Given the description of an element on the screen output the (x, y) to click on. 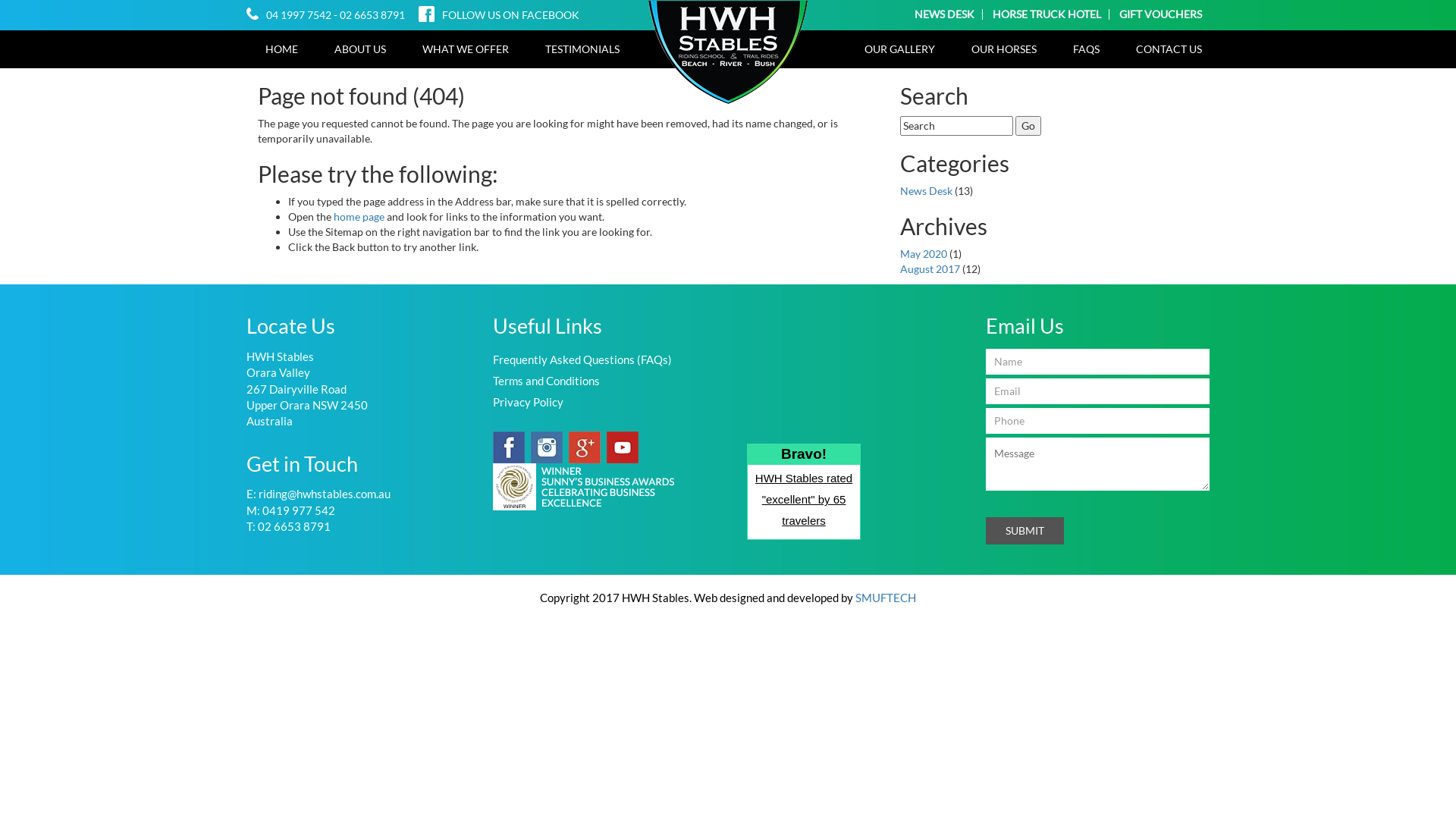
Frequently Asked Questions (FAQs) Element type: text (581, 359)
OUR GALLERY Element type: text (899, 49)
NEWS DESK Element type: text (944, 14)
02 6653 8791 Element type: text (371, 14)
WHAT WE OFFER Element type: text (465, 49)
TESTIMONIALS Element type: text (582, 49)
home page Element type: text (359, 216)
HWH Stables rated "excellent" by 65 travelers Element type: text (803, 499)
OUR HORSES Element type: text (1003, 49)
HORSE TRUCK HOTEL Element type: text (1047, 14)
May 2020 Element type: text (923, 253)
GIFT VOUCHERS Element type: text (1156, 14)
News Desk Element type: text (926, 190)
ABOUT US Element type: text (360, 49)
SMUFTECH Element type: text (885, 597)
FAQS Element type: text (1085, 49)
August 2017 Element type: text (930, 268)
Terms and Conditions Element type: text (545, 380)
FOLLOW US ON FACEBOOK Element type: text (510, 14)
Privacy Policy Element type: text (527, 401)
04 1997 7542 Element type: text (299, 14)
HOME Element type: text (281, 49)
Go Element type: text (1028, 125)
SUBMIT Element type: text (1024, 530)
CONTACT US Element type: text (1168, 49)
